Given the description of an element on the screen output the (x, y) to click on. 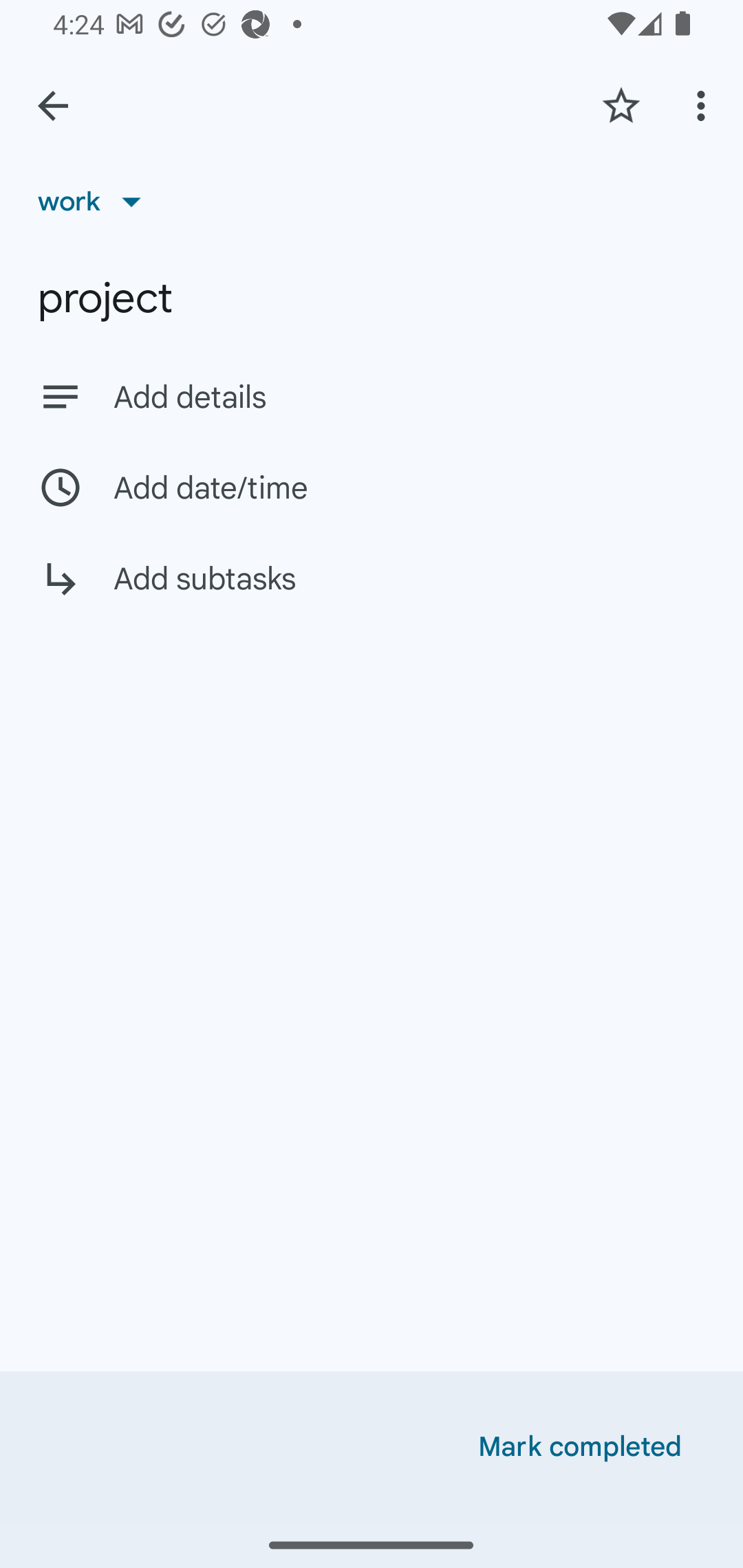
Back (53, 105)
Add star (620, 105)
More options (704, 105)
work List, work selected, 1 of 15 (95, 201)
project (371, 298)
Add details (371, 396)
Add details (409, 397)
Add date/time (371, 487)
Add subtasks (371, 593)
Mark completed (580, 1446)
